Given the description of an element on the screen output the (x, y) to click on. 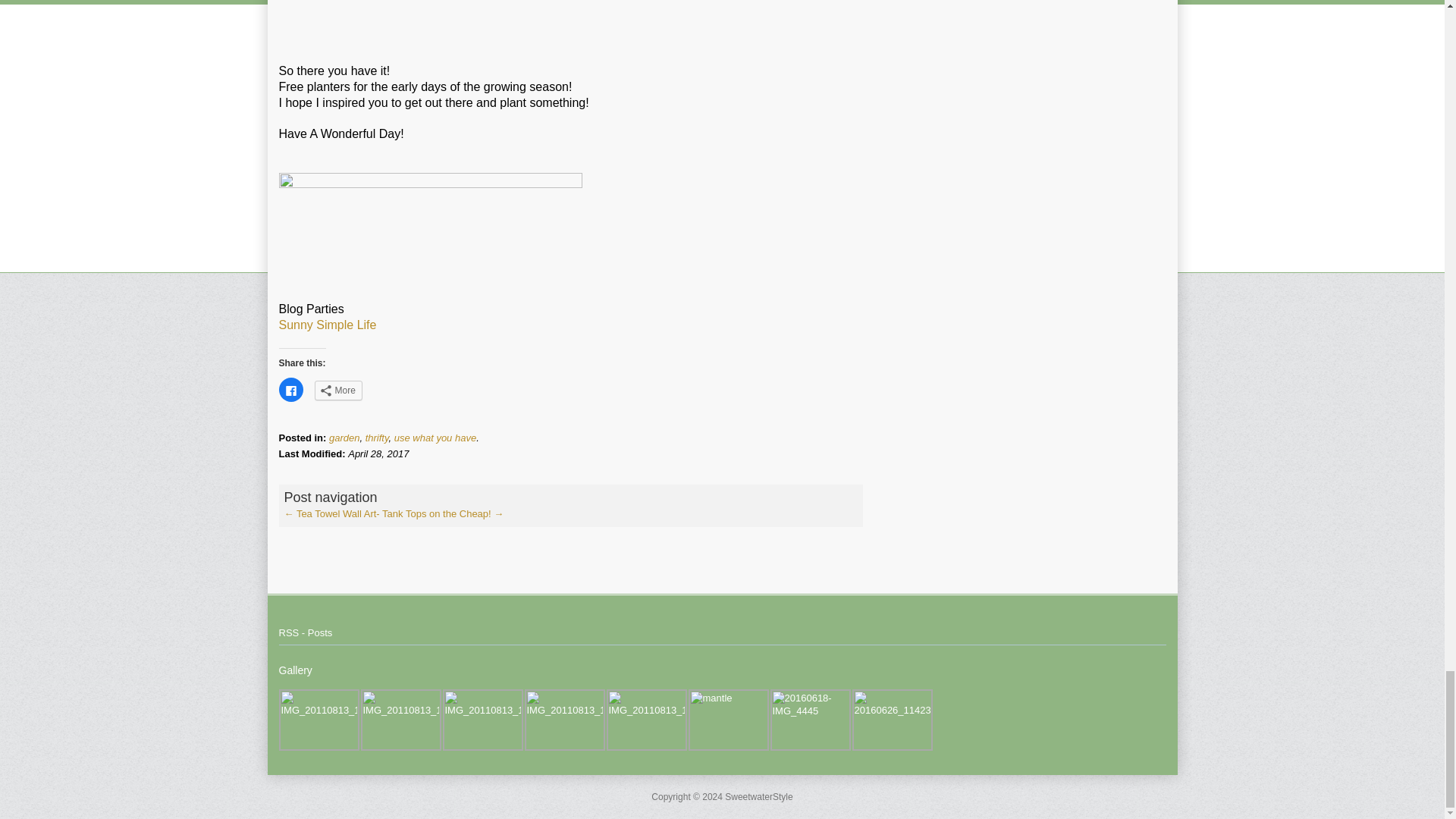
thrifty (376, 437)
Sunny Simple Life (328, 324)
Click to share on Facebook (290, 389)
use what you have (435, 437)
garden (344, 437)
Subscribe to Posts (306, 632)
RSS - Posts (306, 632)
More (337, 390)
